Given the description of an element on the screen output the (x, y) to click on. 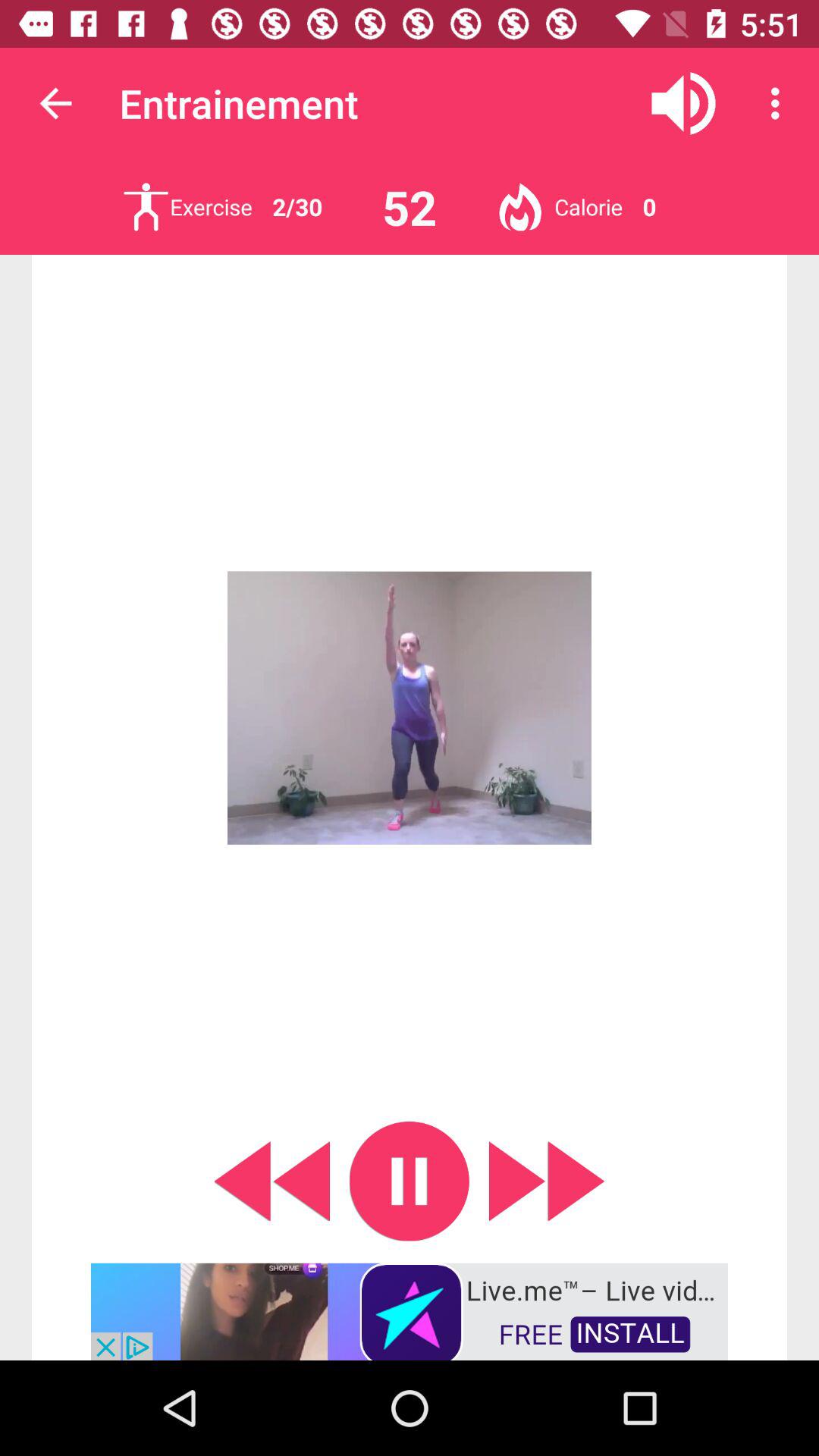
undo (271, 1181)
